Given the description of an element on the screen output the (x, y) to click on. 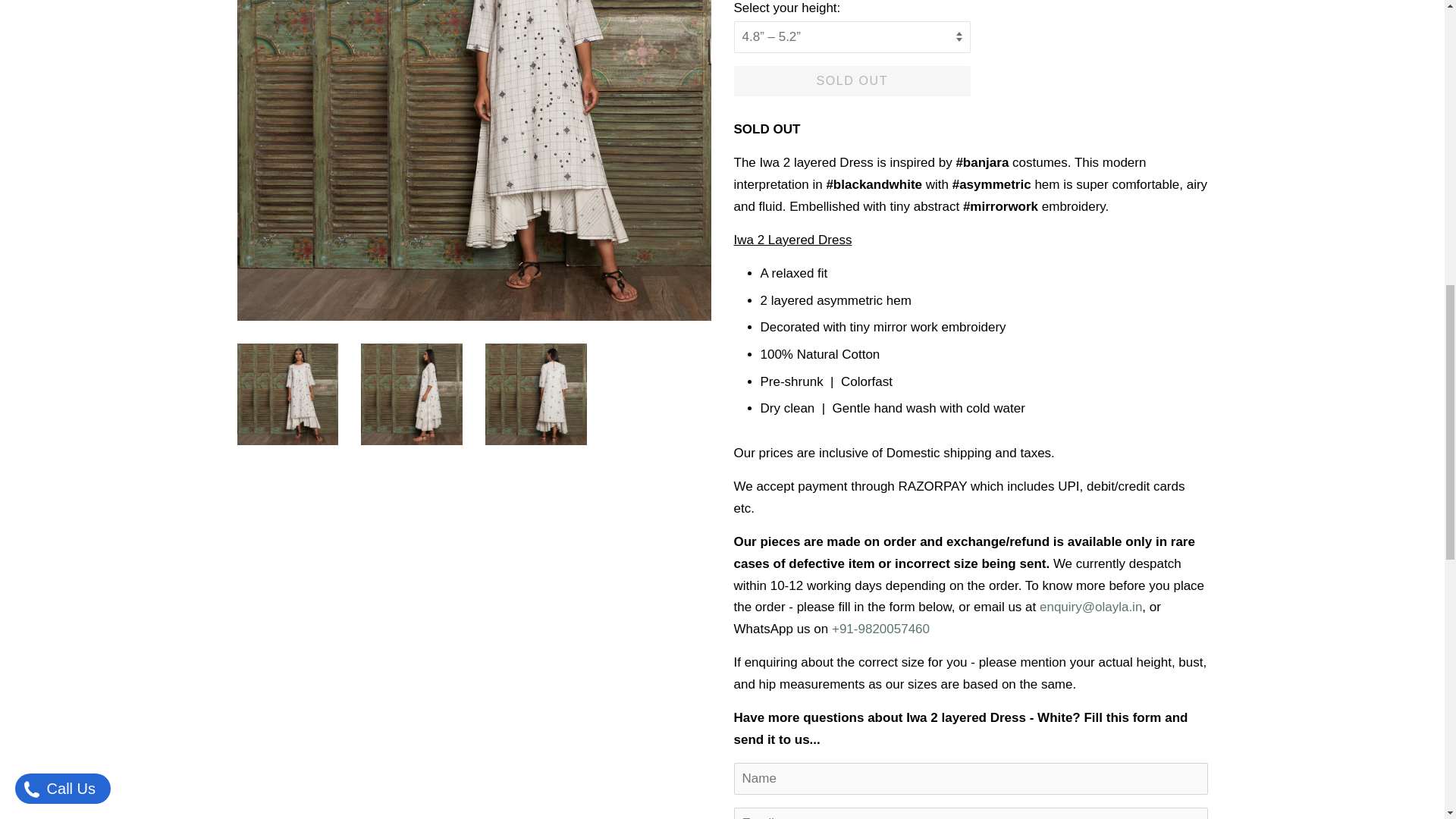
SOLD OUT (852, 81)
WhatsApp us (880, 628)
